Given the description of an element on the screen output the (x, y) to click on. 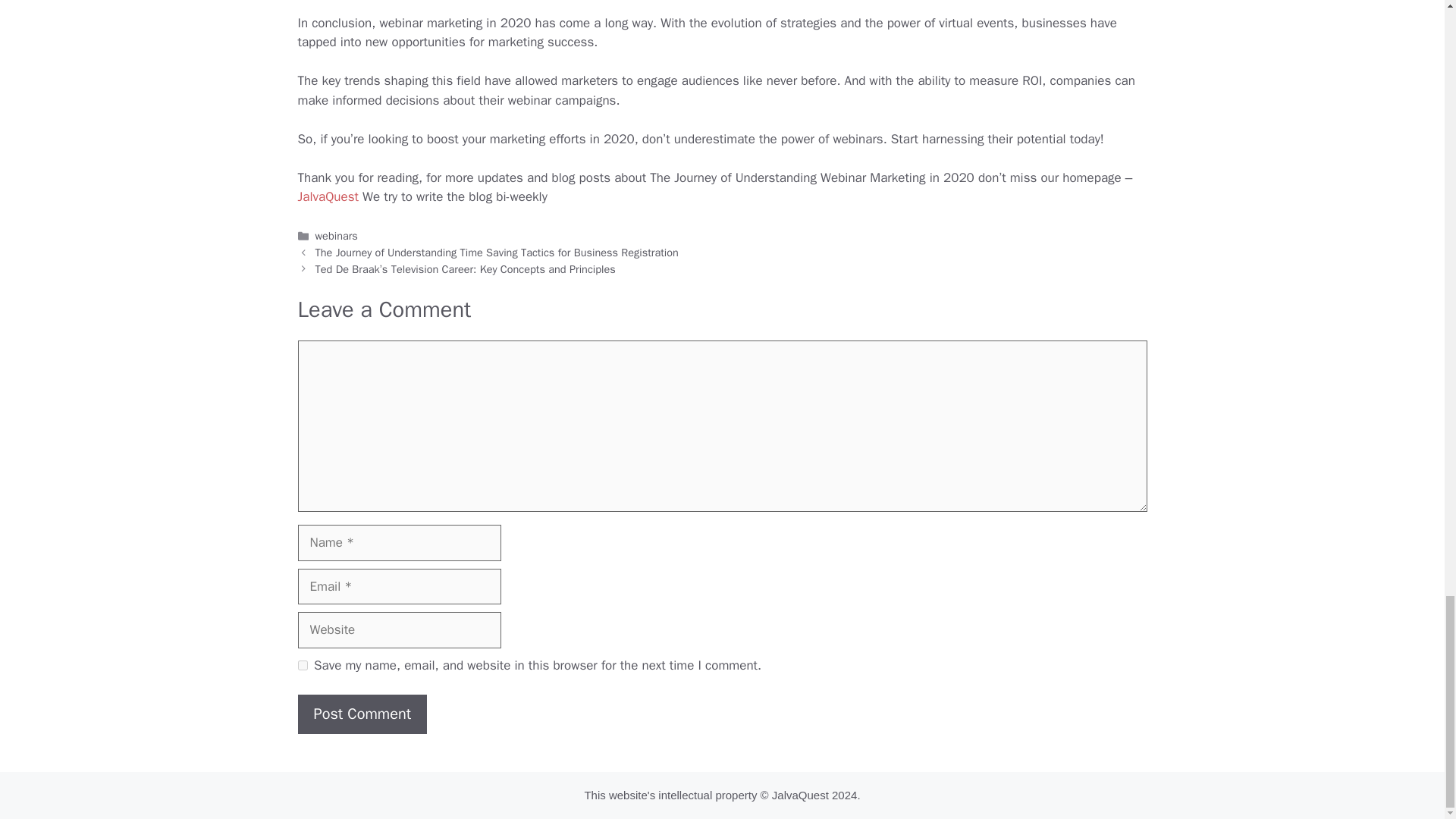
JalvaQuest (799, 794)
JalvaQuest (327, 196)
Post Comment (361, 713)
webinars (336, 235)
yes (302, 665)
Post Comment (361, 713)
